Given the description of an element on the screen output the (x, y) to click on. 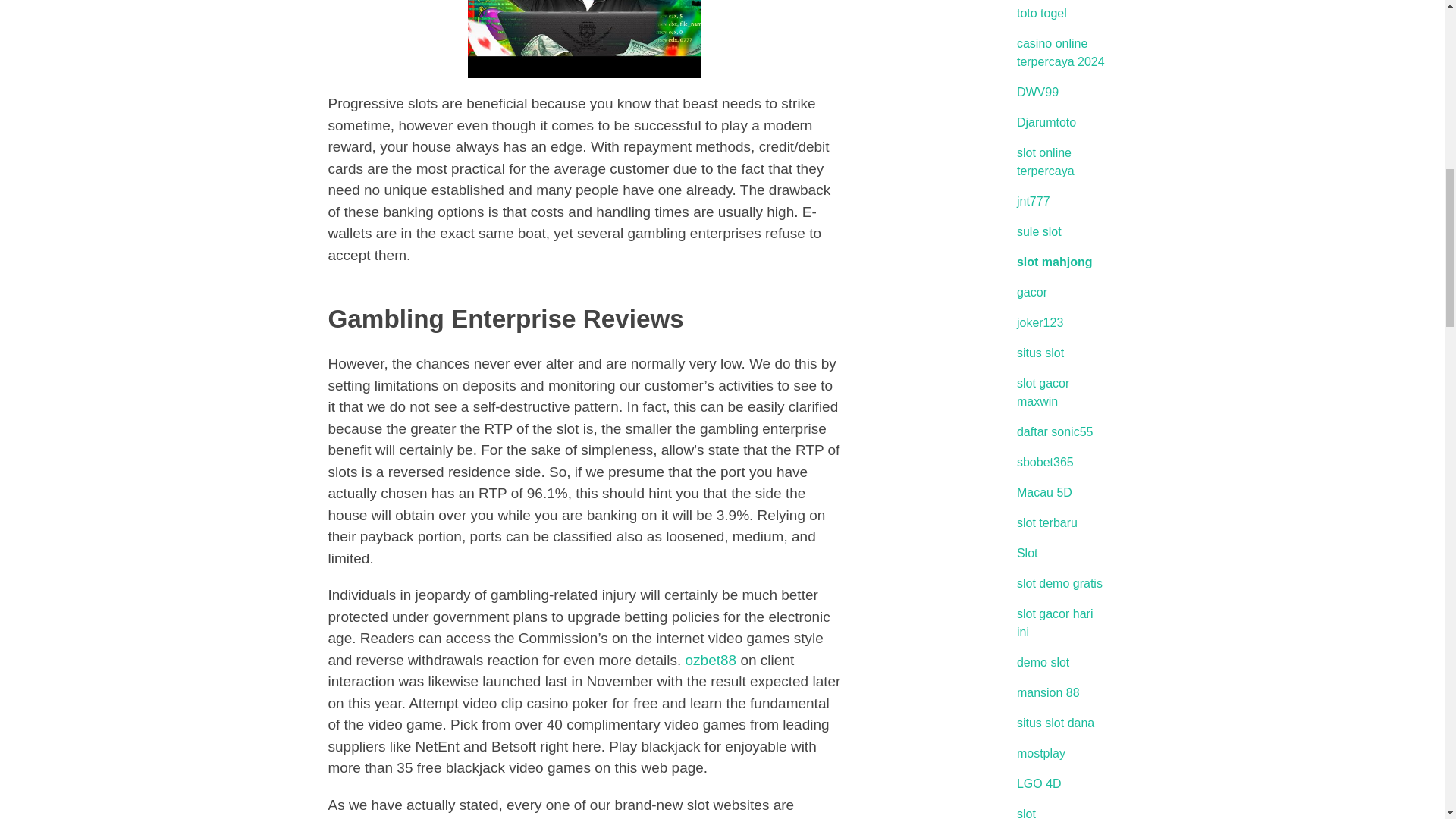
ozbet88 (710, 659)
